Given the description of an element on the screen output the (x, y) to click on. 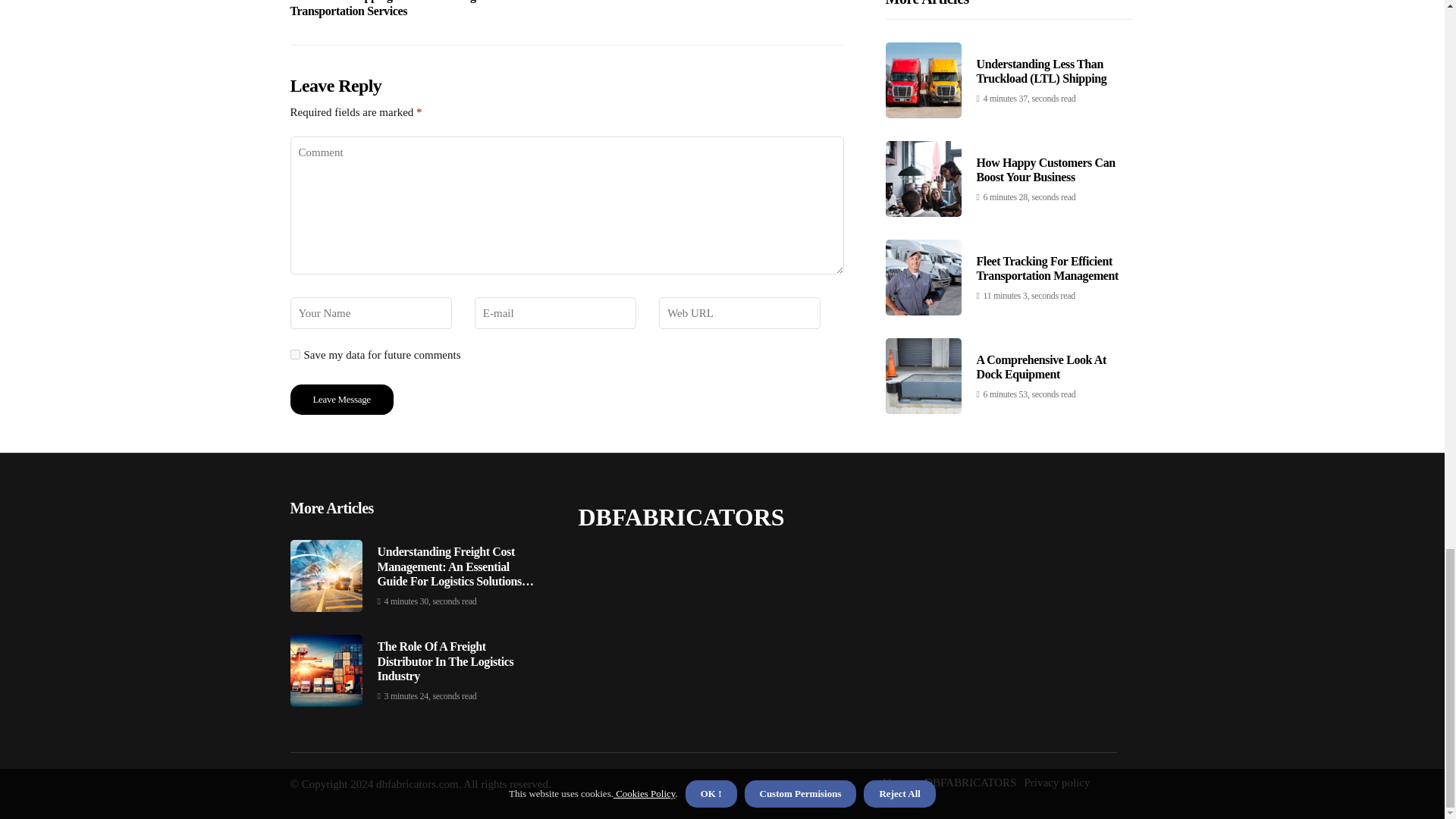
yes (294, 354)
Leave Message (341, 399)
